Given the description of an element on the screen output the (x, y) to click on. 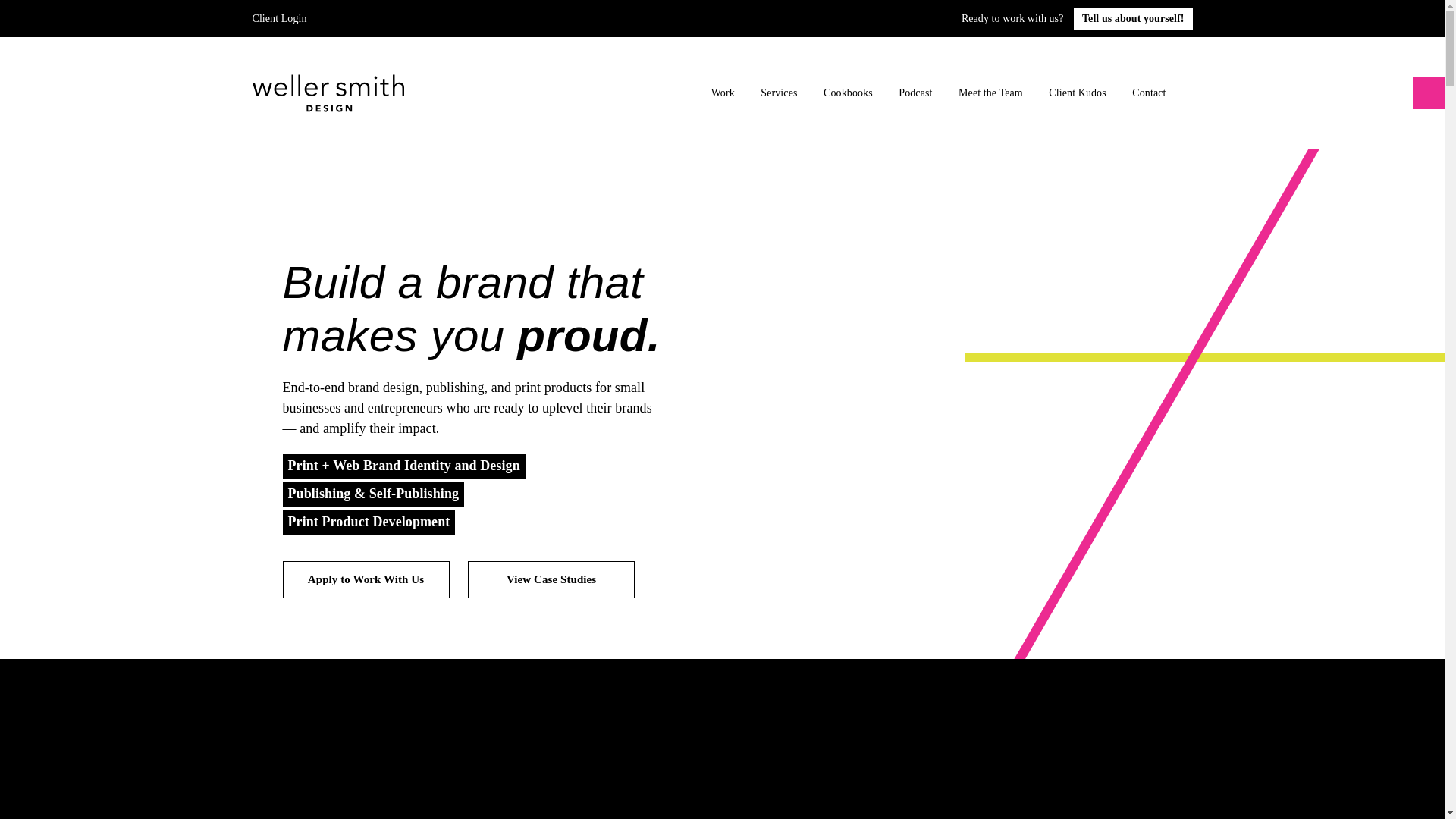
Search (1199, 92)
Instagram (351, 18)
Facebook (330, 16)
Instagram (352, 16)
Client Login (278, 18)
Pinterest (372, 16)
Tell us about yourself! (1133, 18)
Work (723, 92)
Facebook (330, 18)
Services (778, 92)
Pinterest (372, 18)
